Given the description of an element on the screen output the (x, y) to click on. 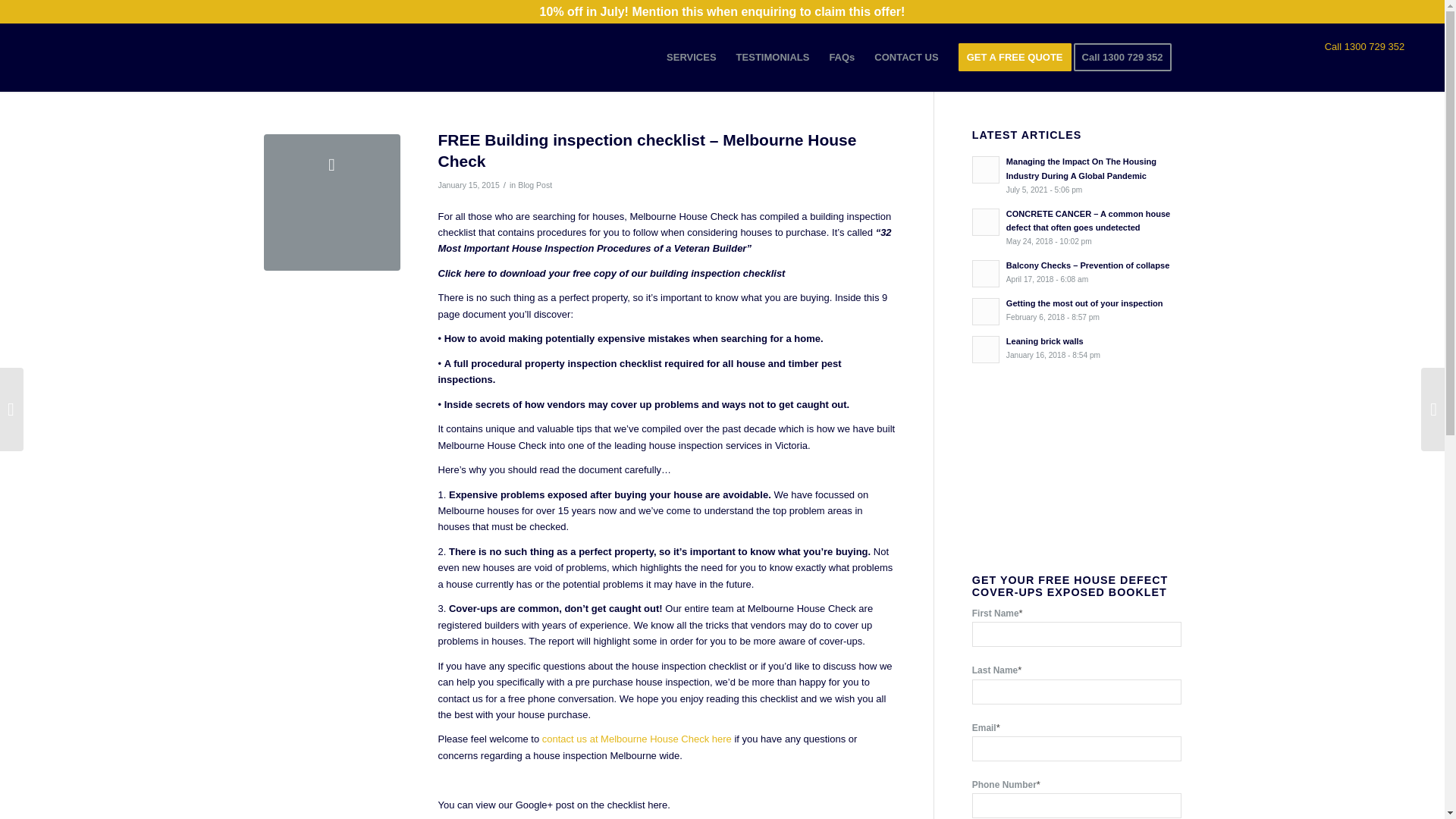
GET A FREE QUOTE (1015, 57)
CONTACT US (905, 57)
building inspection checklist (331, 202)
Call 1300 729 352 (1127, 57)
contact us at Melbourne House Check here (636, 738)
TESTIMONIALS (1076, 347)
SERVICES (772, 57)
building inspection checklist (691, 57)
Call now to find out more (612, 273)
Blog Post (1364, 46)
Call 1300 729 352 (534, 184)
